Given the description of an element on the screen output the (x, y) to click on. 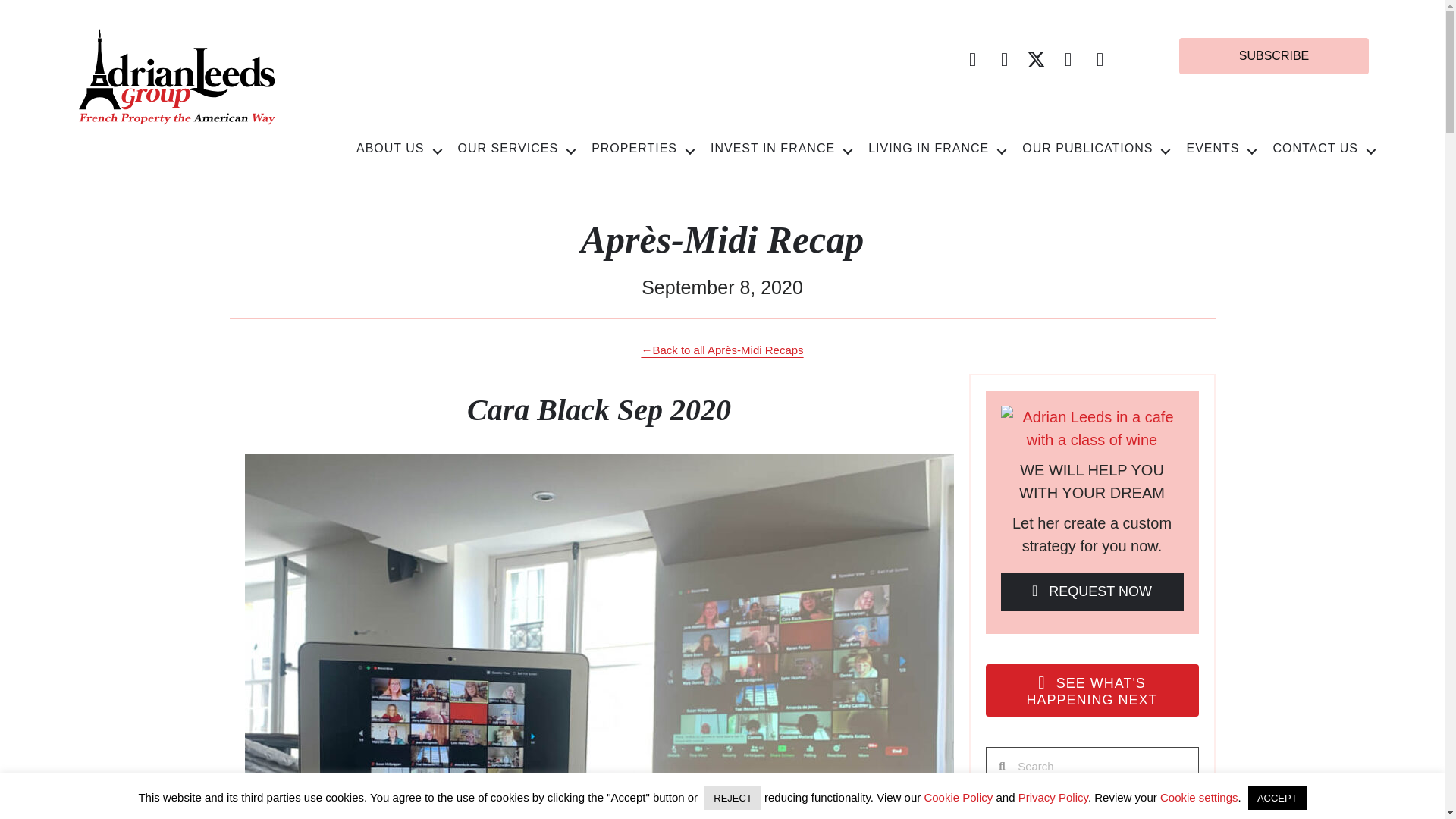
YouTube (1004, 59)
ABOUT US (399, 147)
LinkedIn (1099, 59)
Search (1102, 766)
INVEST IN FRANCE (781, 147)
LIVING IN FRANCE (937, 147)
PROPERTIES (643, 147)
Instagram (1068, 59)
OUR SERVICES (517, 147)
Facebook (972, 59)
